Given the description of an element on the screen output the (x, y) to click on. 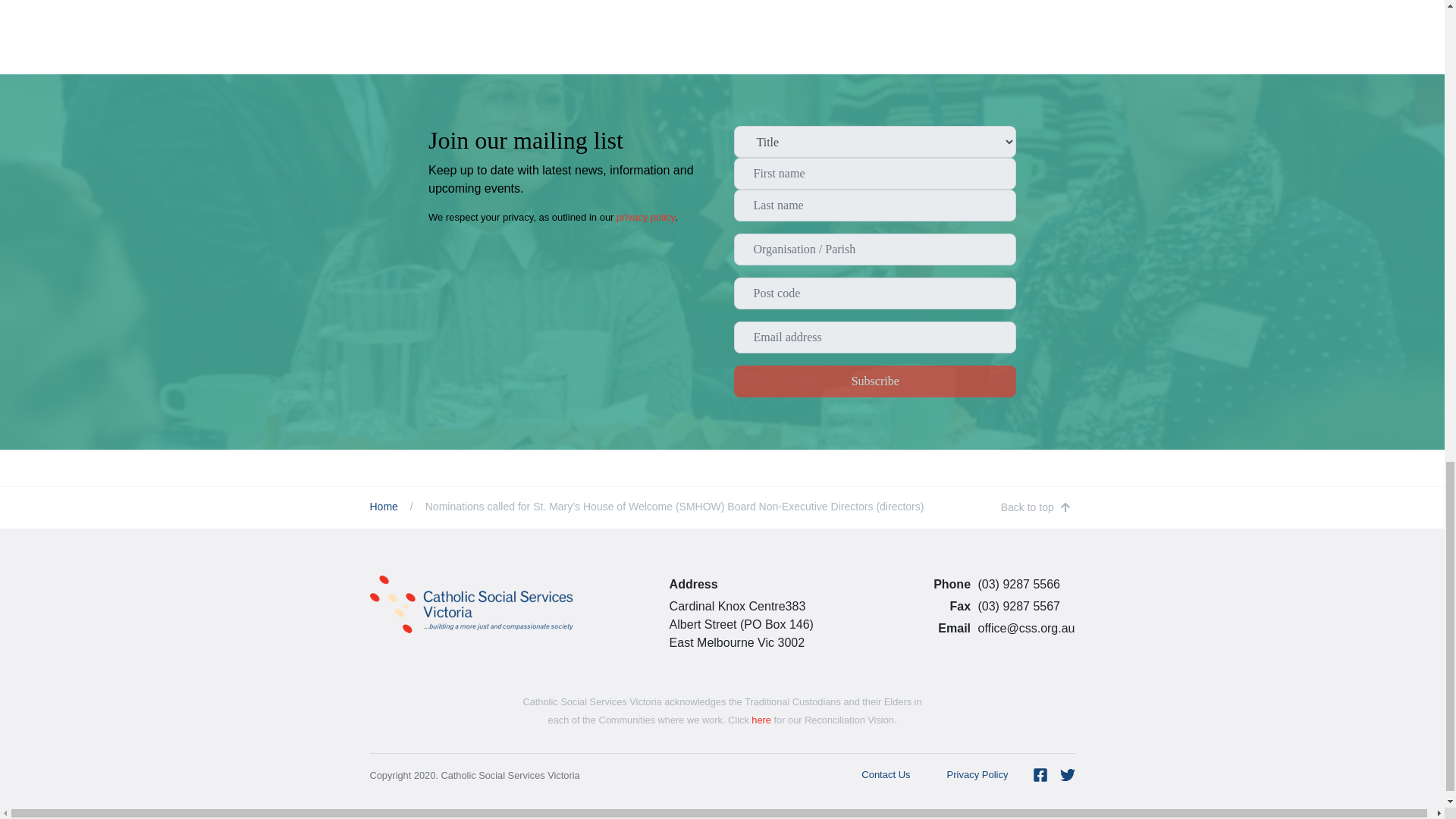
Subscribe (874, 381)
Back to top   (1035, 507)
Subscribe (874, 381)
privacy policy (645, 216)
Back to top   (1035, 507)
